Given the description of an element on the screen output the (x, y) to click on. 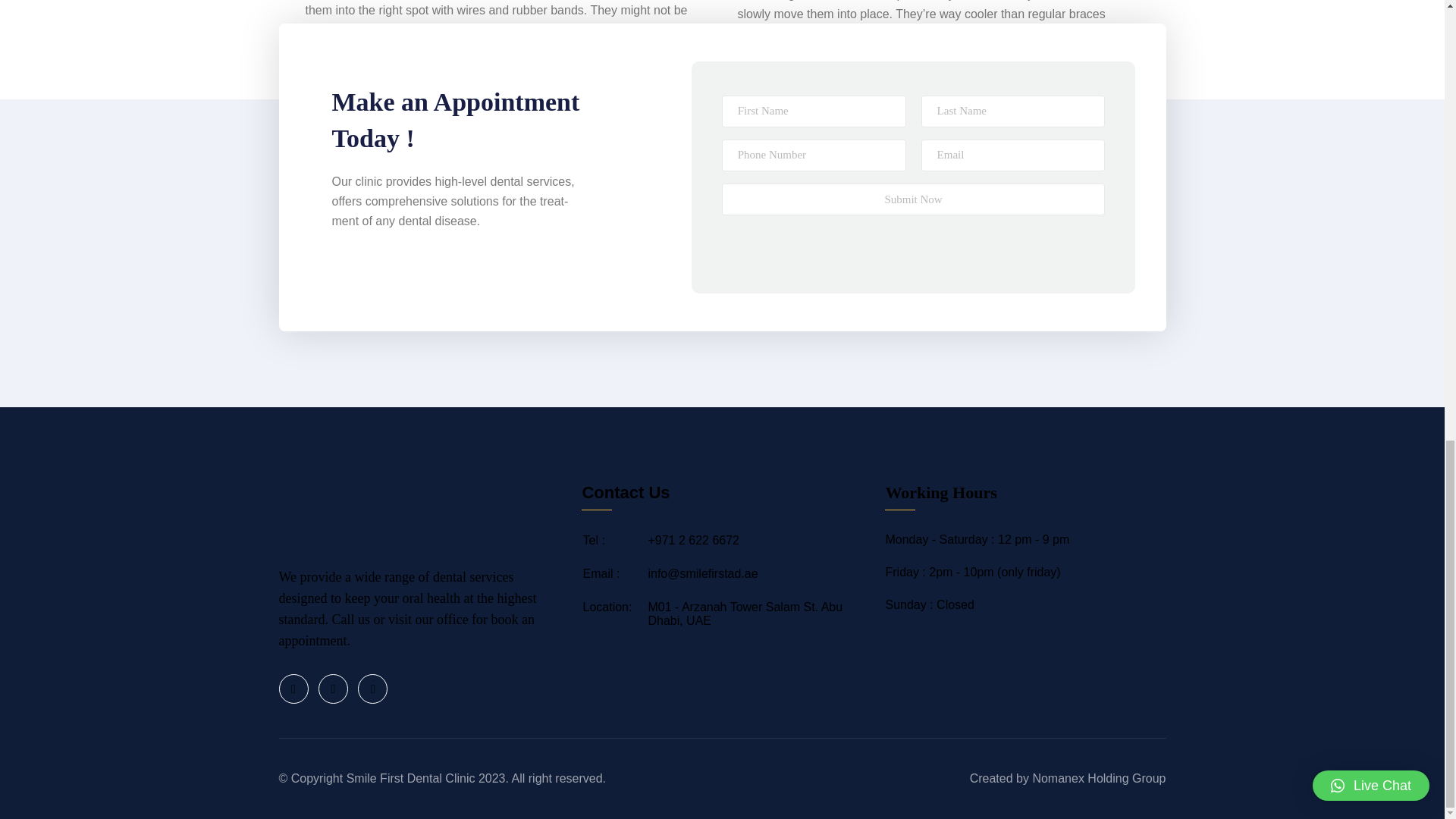
Submit Now (913, 199)
